Given the description of an element on the screen output the (x, y) to click on. 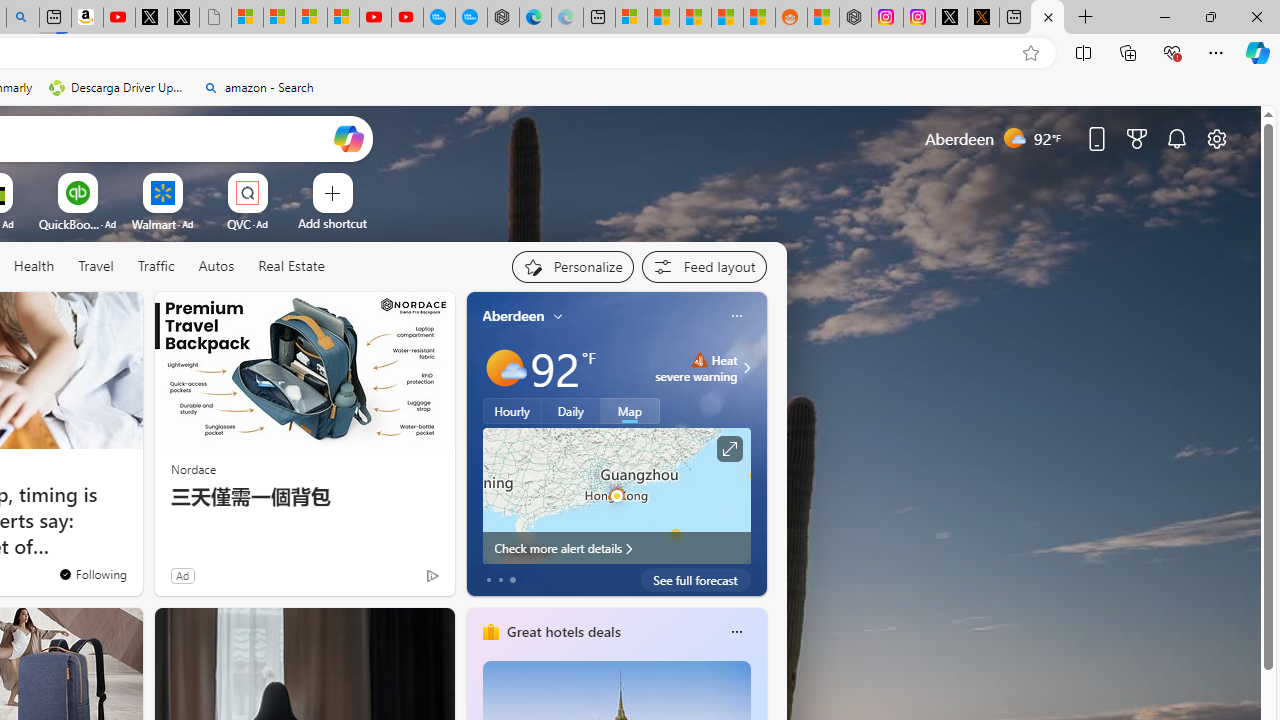
Log in to X / X (950, 17)
Real Estate (291, 265)
Travel (95, 265)
Microsoft rewards (1137, 138)
Mostly sunny (504, 368)
Click to see more information (728, 449)
Health (34, 265)
New split screen (54, 17)
